Given the description of an element on the screen output the (x, y) to click on. 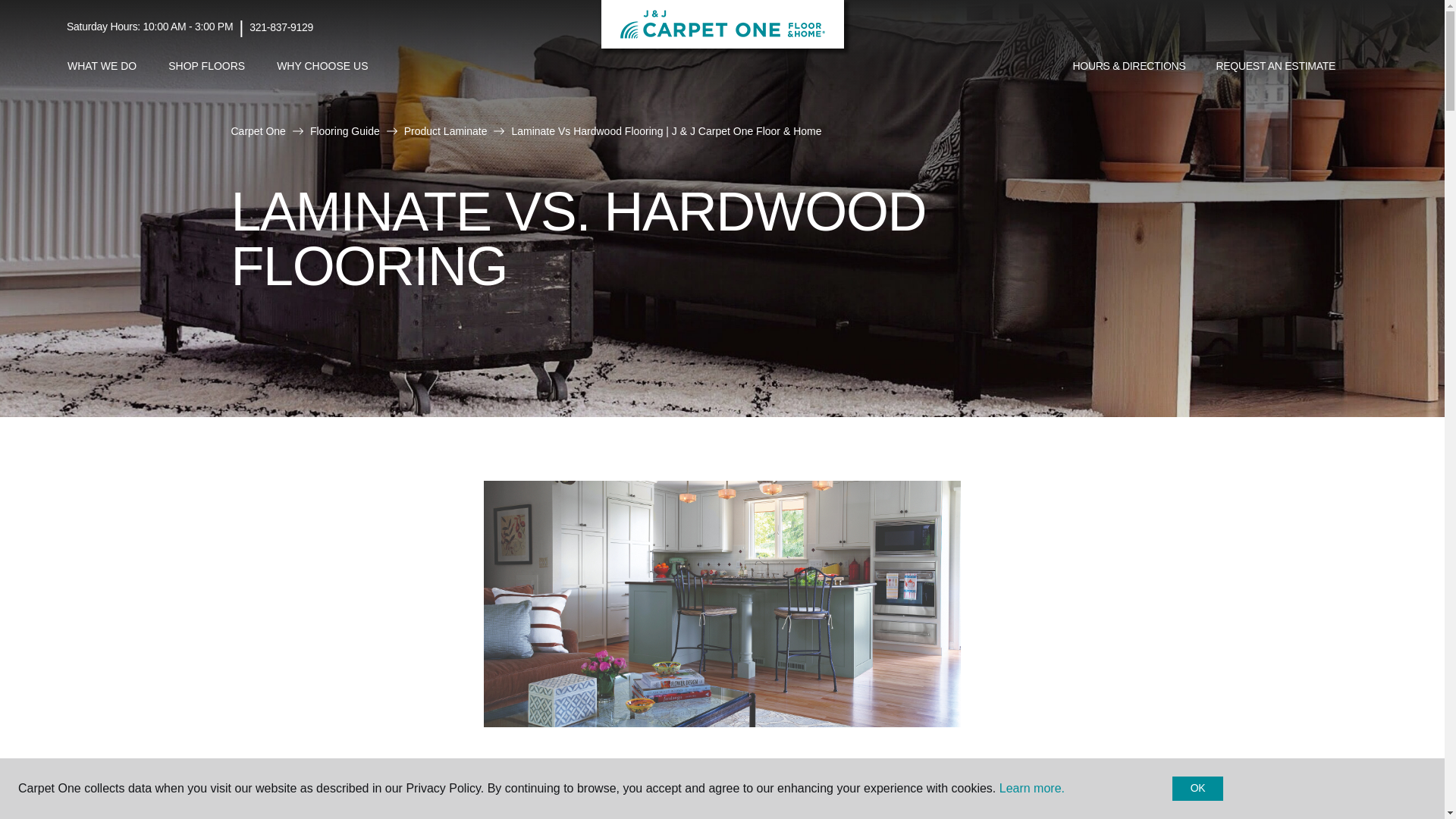
REQUEST AN ESTIMATE (1276, 66)
WHY CHOOSE US (321, 66)
SHOP FLOORS (206, 66)
WHAT WE DO (102, 66)
321-837-9129 (280, 27)
